Given the description of an element on the screen output the (x, y) to click on. 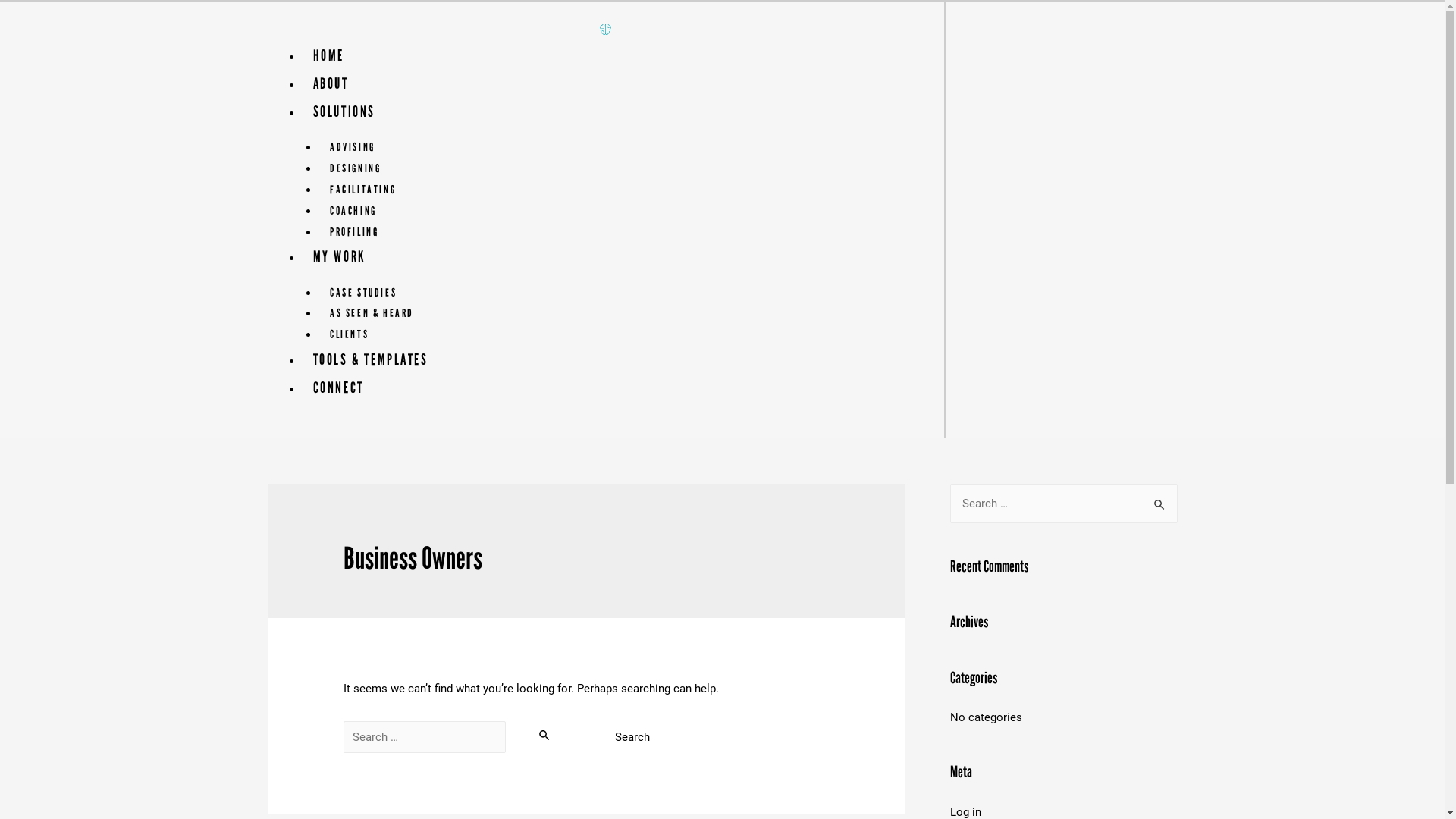
CLIENTS Element type: text (348, 334)
CASE STUDIES Element type: text (362, 292)
COACHING Element type: text (353, 210)
HOME Element type: text (328, 55)
CONNECT Element type: text (338, 387)
ABOUT Element type: text (330, 83)
SOLUTIONS Element type: text (343, 111)
PROFILING Element type: text (353, 231)
ADVISING Element type: text (352, 146)
FACILITATING Element type: text (362, 189)
Search Element type: text (1160, 498)
DESIGNING Element type: text (355, 168)
Search Element type: text (632, 737)
AS SEEN & HEARD Element type: text (371, 312)
TOOLS & TEMPLATES Element type: text (370, 359)
MY WORK Element type: text (339, 256)
